Given the description of an element on the screen output the (x, y) to click on. 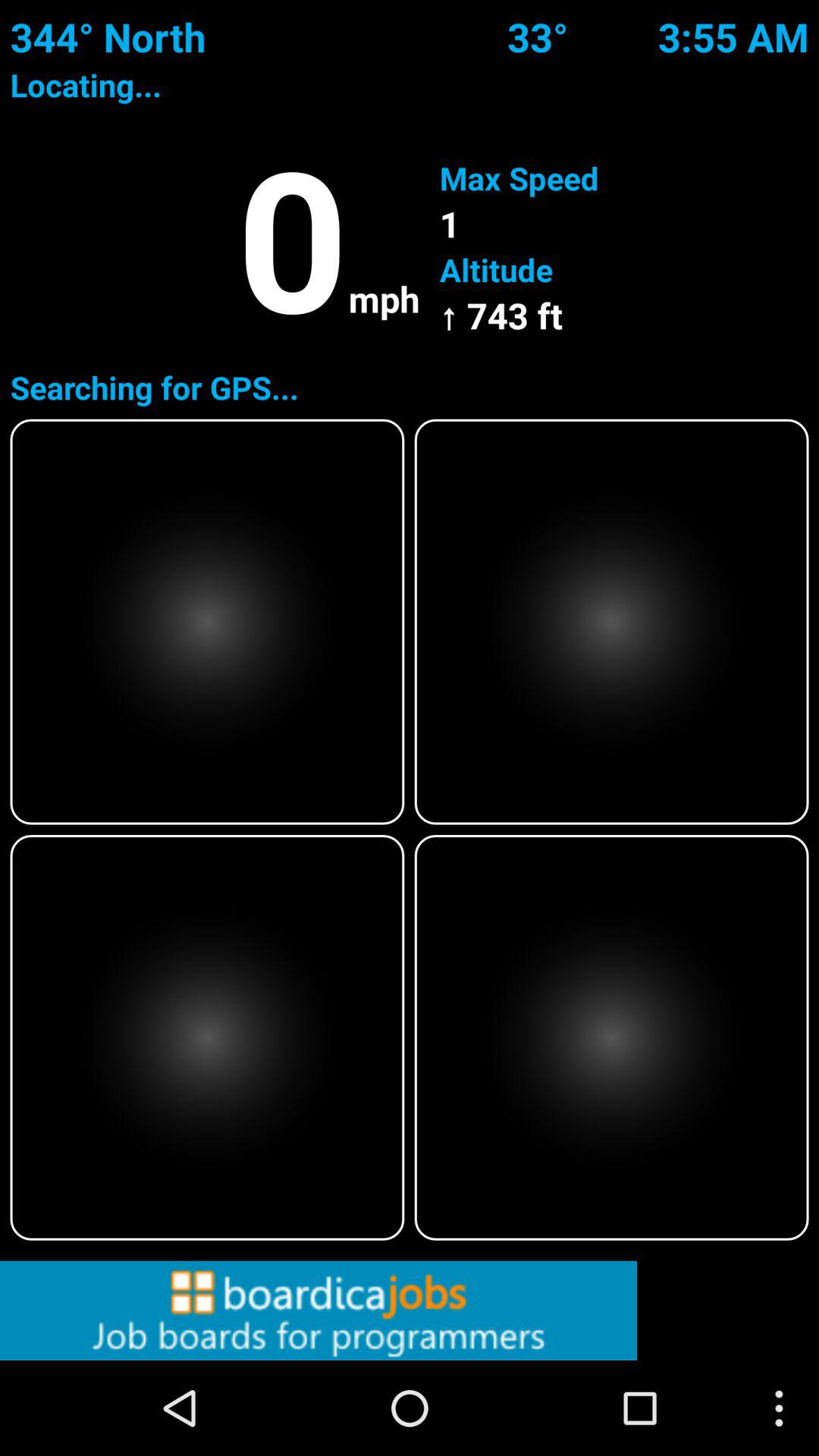
click on advertisement (409, 1310)
